Given the description of an element on the screen output the (x, y) to click on. 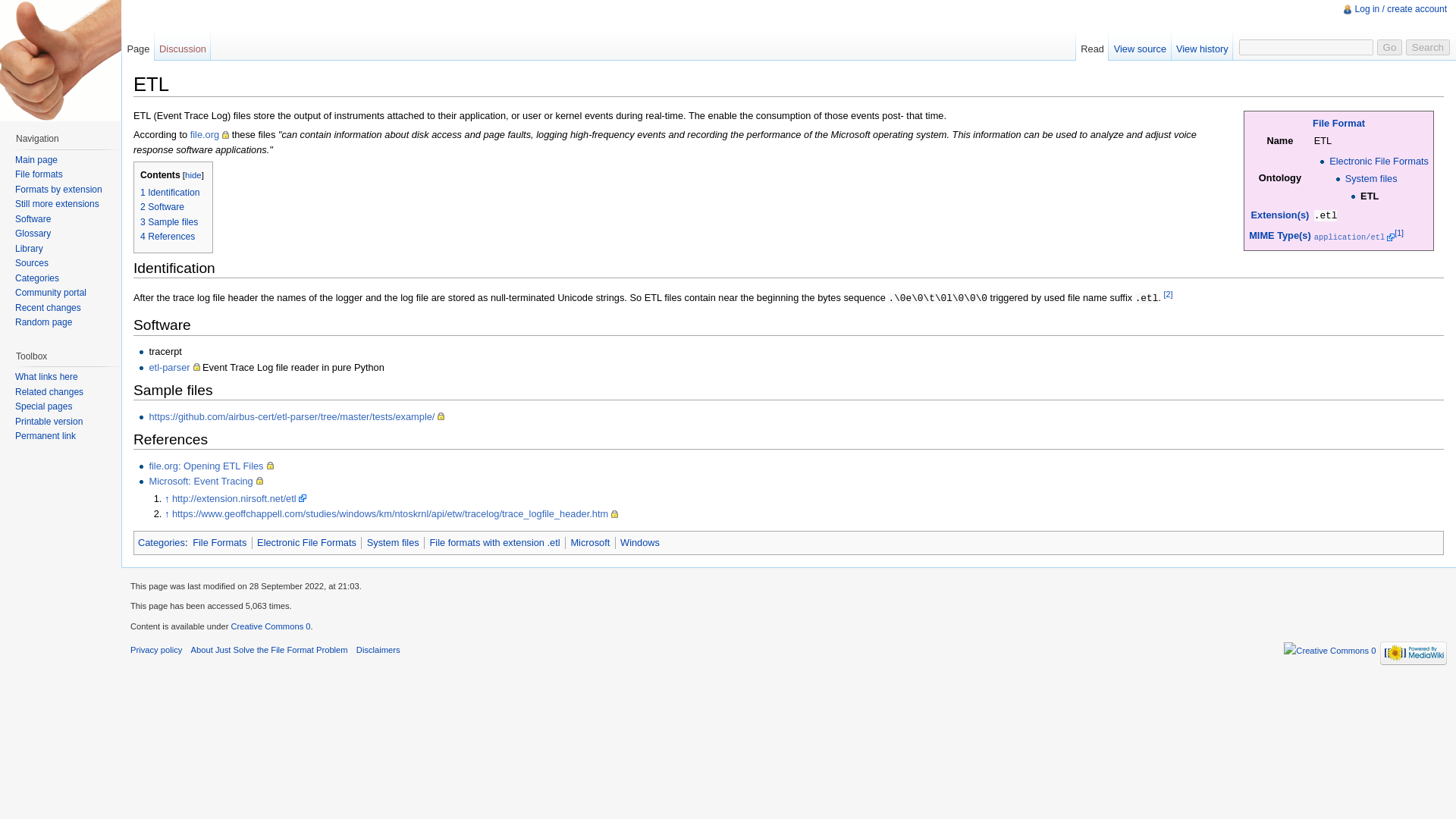
Category:File Formats (219, 542)
Categories (161, 542)
System files (1371, 178)
1 Identification (169, 192)
Electronic File Formats (1378, 161)
Go (1390, 47)
Category:Windows (639, 542)
Electronic File Formats (306, 542)
Go (1390, 47)
Search (1428, 47)
MIME types (1280, 235)
Category:File formats with extension .etl (494, 542)
Microsoft (590, 542)
Search (1428, 47)
File Formats (1339, 122)
